Given the description of an element on the screen output the (x, y) to click on. 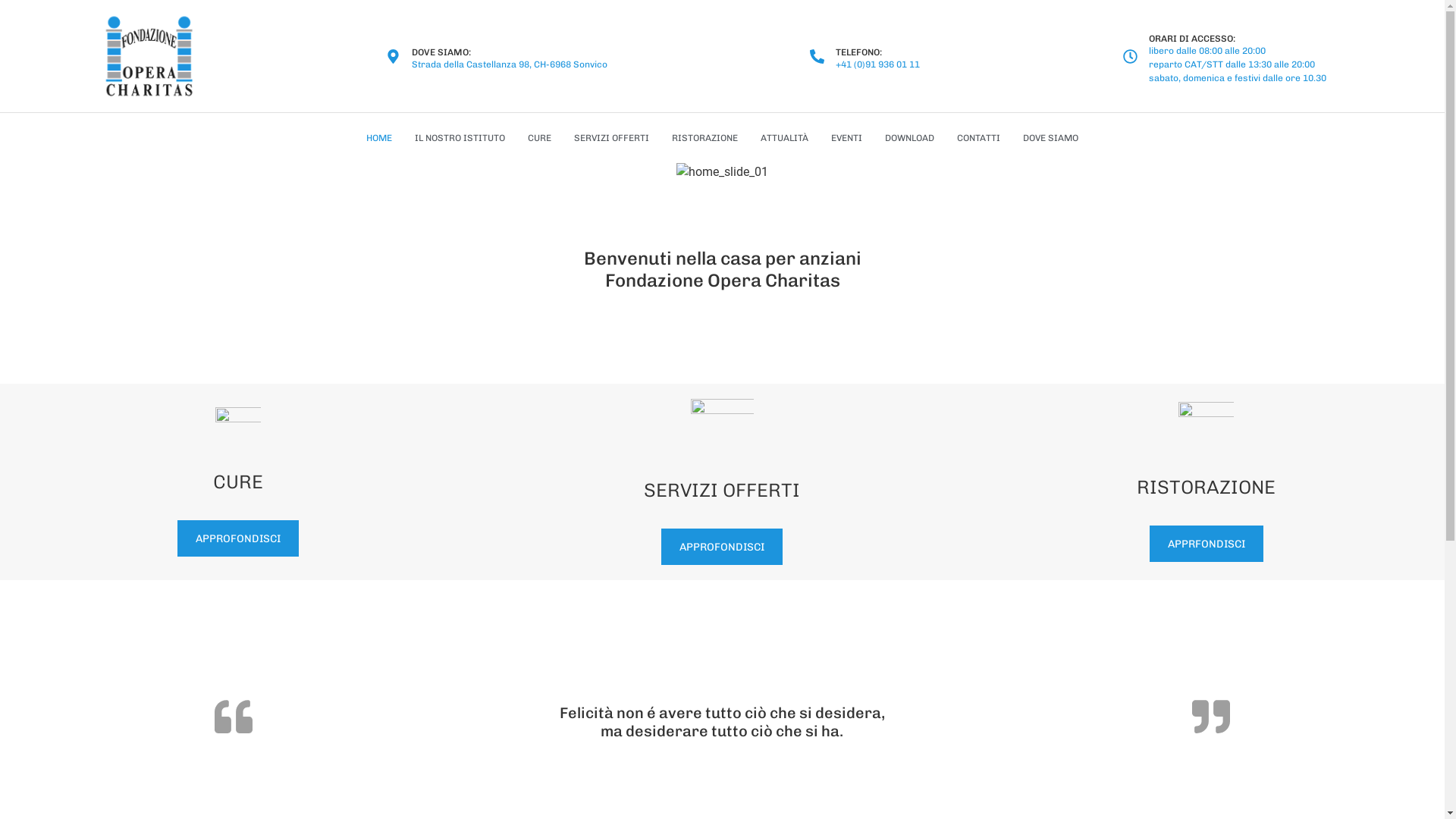
EVENTI Element type: text (846, 137)
SERVIZI OFFERTI Element type: text (611, 137)
APPROFONDISCI Element type: text (721, 546)
APPROFONDISCI Element type: text (237, 538)
APPRFONDISCI Element type: text (1206, 543)
DOVE SIAMO Element type: text (1050, 137)
HOME Element type: text (378, 137)
CONTATTI Element type: text (978, 137)
DOWNLOAD Element type: text (909, 137)
CURE Element type: text (539, 137)
RISTORAZIONE Element type: text (704, 137)
IL NOSTRO ISTITUTO Element type: text (459, 137)
